Given the description of an element on the screen output the (x, y) to click on. 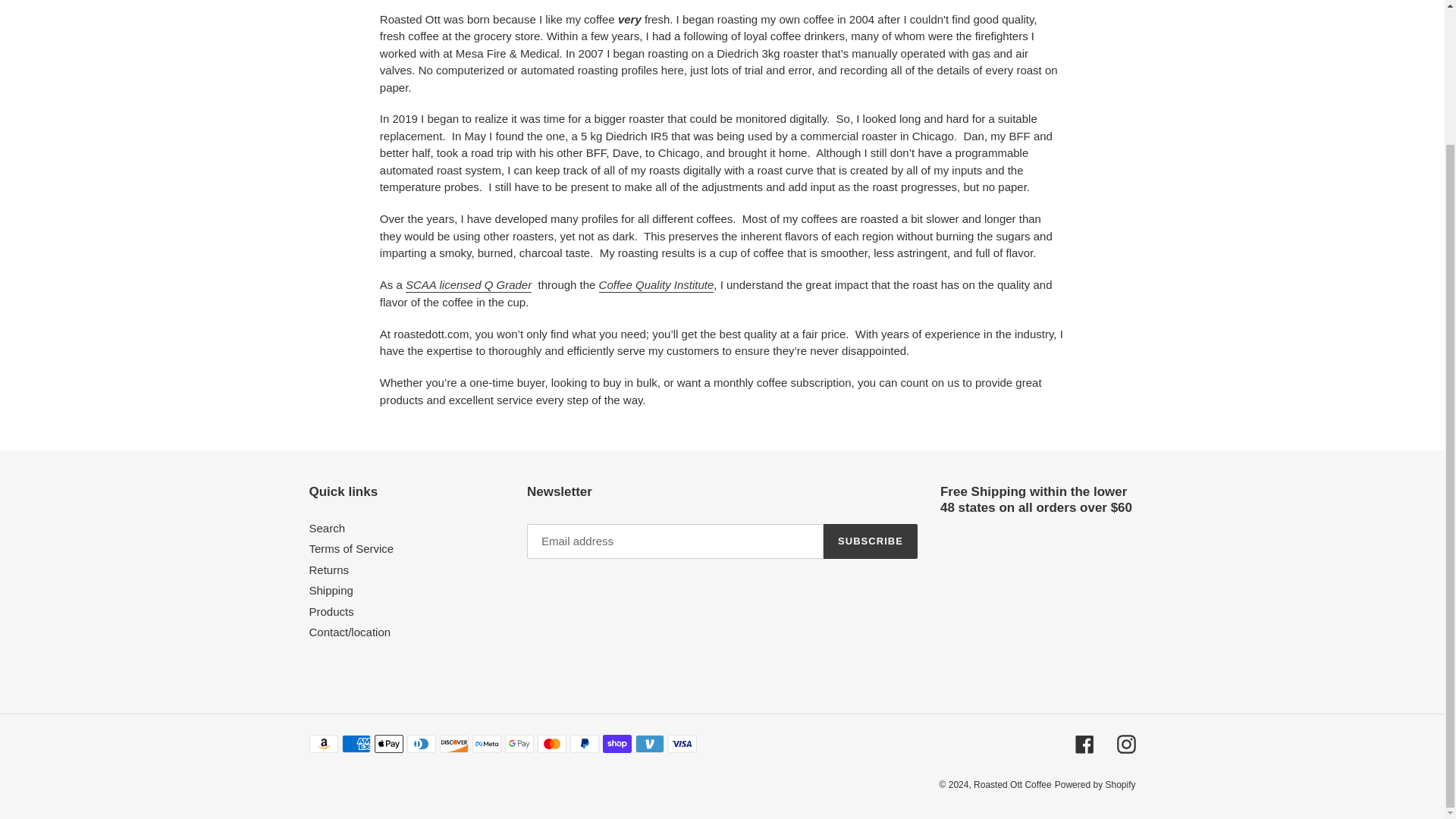
Coffee Institute (656, 285)
